Given the description of an element on the screen output the (x, y) to click on. 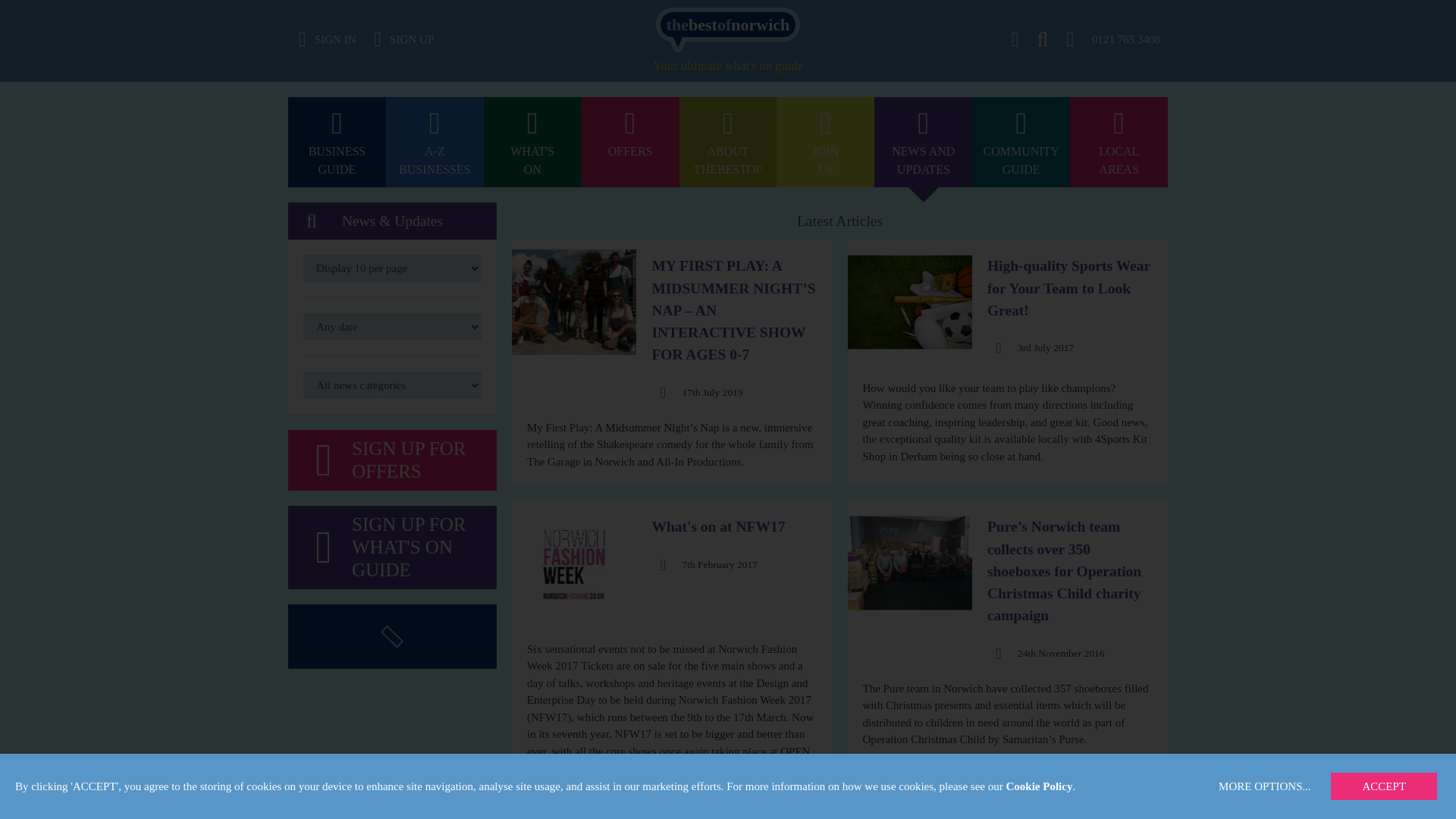
thebestofnorwich (336, 142)
OFFERS (923, 142)
0121 765 3408 (1021, 7)
SIGN IN (728, 24)
SIGN UP (825, 142)
